Given the description of an element on the screen output the (x, y) to click on. 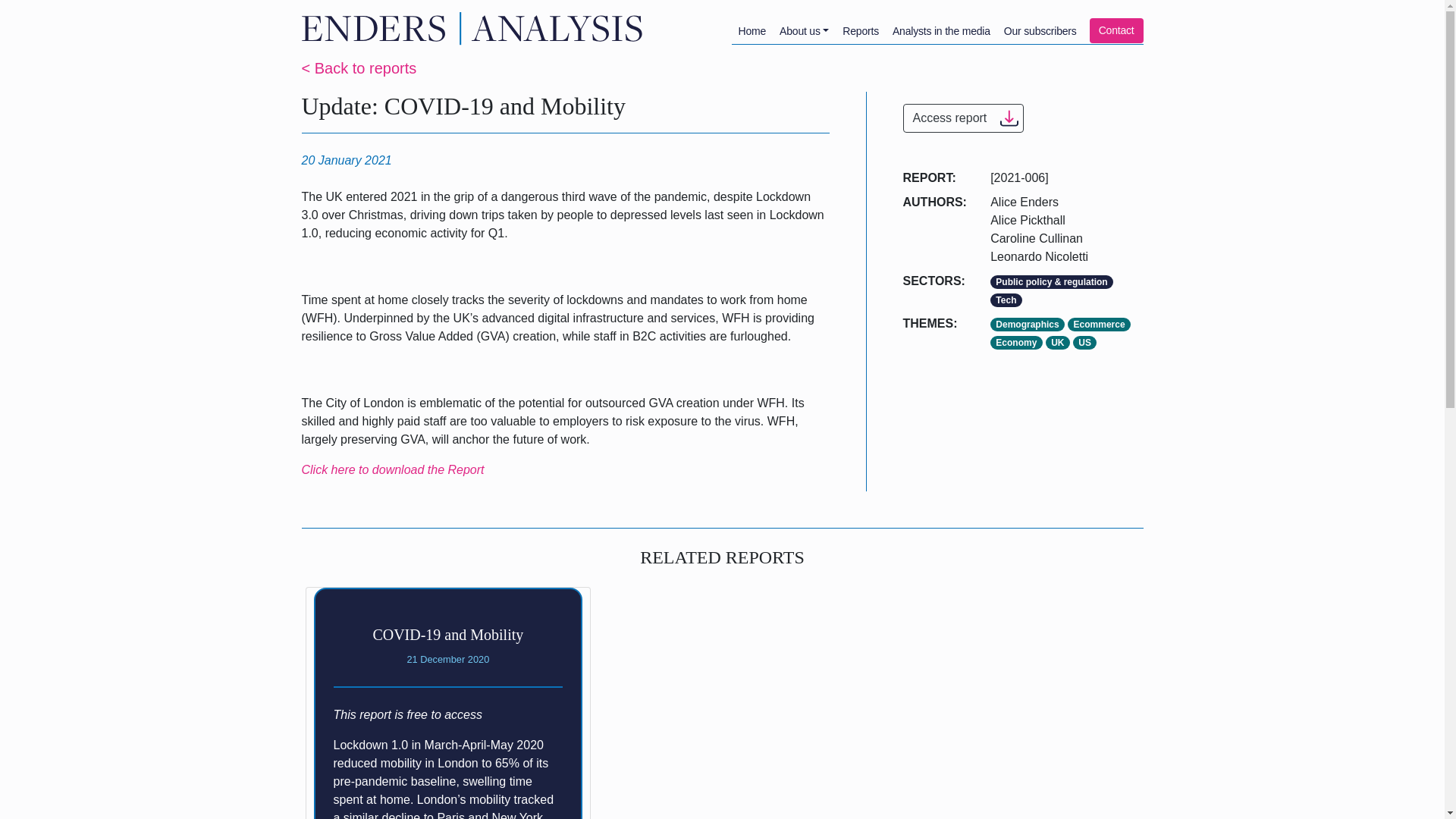
Home (475, 27)
Reports (860, 31)
Click here to download the Report (392, 469)
About us (804, 31)
COVID-19 and Mobility (447, 634)
Access report (962, 118)
Contact (1115, 30)
Skip to main content (721, 0)
Tech (1006, 300)
Home (752, 31)
